Given the description of an element on the screen output the (x, y) to click on. 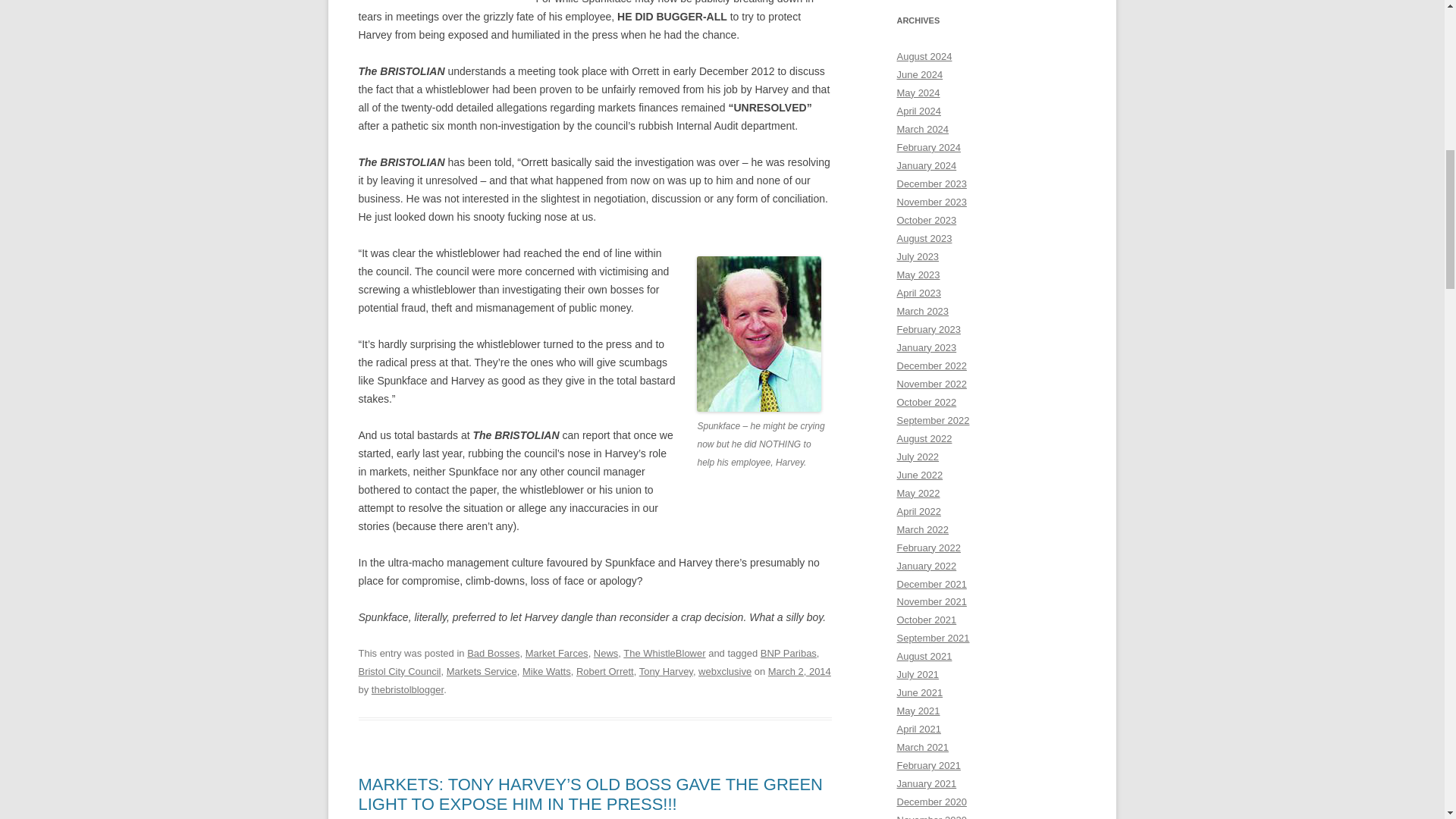
11:08 am (799, 671)
thebristolblogger (407, 689)
Bad Bosses (493, 653)
Bristol City Council (399, 671)
BNP Paribas (788, 653)
Markets Service (481, 671)
webxclusive (724, 671)
The WhistleBlower (663, 653)
News (605, 653)
View all posts by thebristolblogger (407, 689)
